Given the description of an element on the screen output the (x, y) to click on. 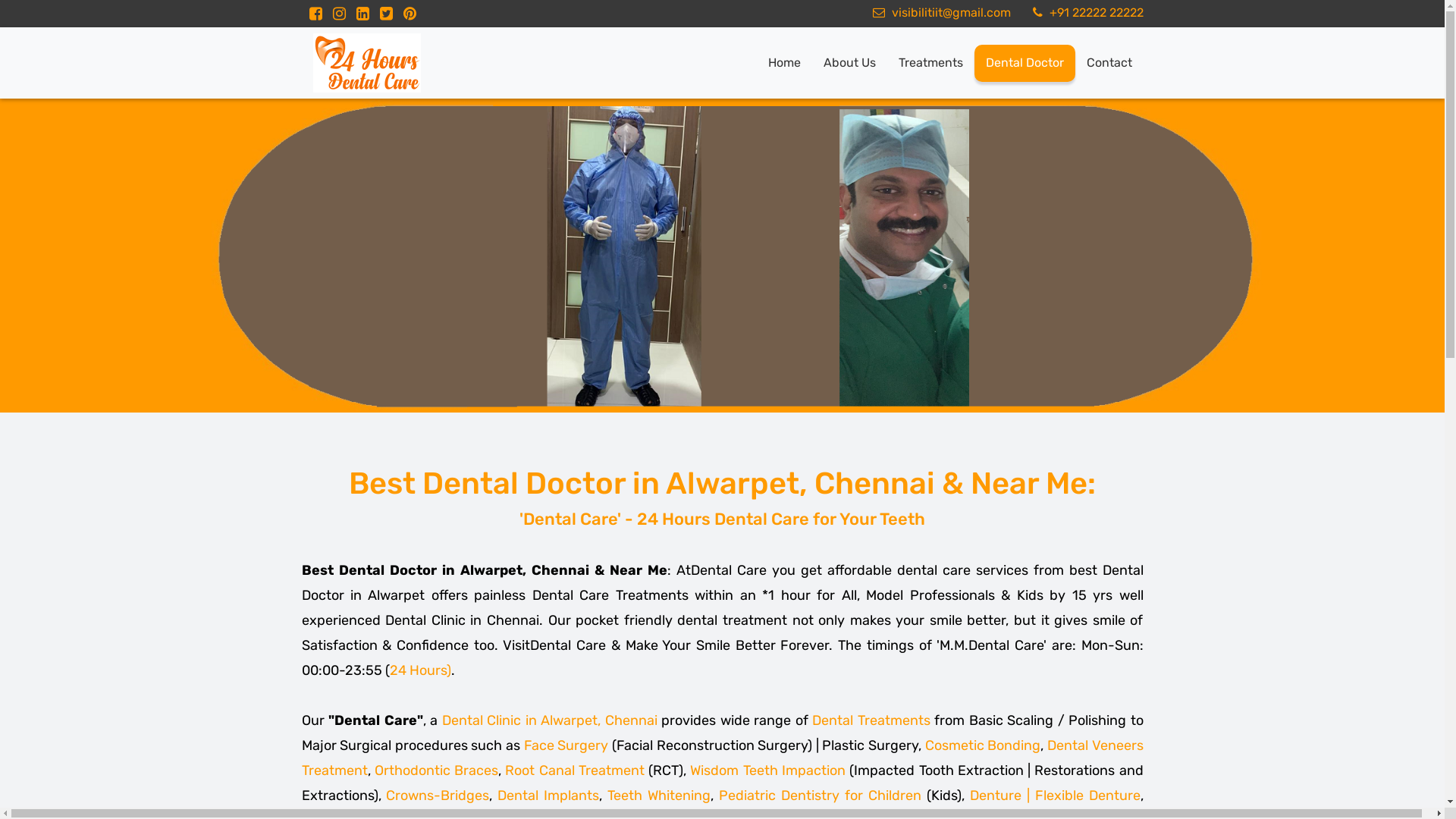
Crowns-Bridges Element type: text (437, 795)
Dental Veneers Treatment Element type: text (722, 757)
24 Hours) Element type: text (420, 669)
Teeth Whitening Element type: text (658, 795)
About Us Element type: text (848, 62)
Root Canal Treatment Element type: text (574, 769)
Home Element type: text (784, 62)
Dental Implants Element type: text (548, 795)
Pediatric Dentistry for Children Element type: text (819, 795)
Orthodontic Braces Element type: text (436, 769)
Dental Clinic in Alwarpet, Chennai Element type: text (548, 719)
Denture | Flexible Denture Element type: text (1054, 795)
Wisdom Teeth Impaction Element type: text (767, 769)
visibilitiit@gmail.com Element type: text (939, 12)
Contact Element type: text (1109, 62)
+91 22222 22222 Element type: text (1085, 12)
Cosmetic Bonding Element type: text (983, 745)
Treatments Element type: text (930, 62)
Face Surgery Element type: text (566, 745)
Dental Doctor Element type: text (1023, 62)
Dental Treatments Element type: text (871, 719)
